Given the description of an element on the screen output the (x, y) to click on. 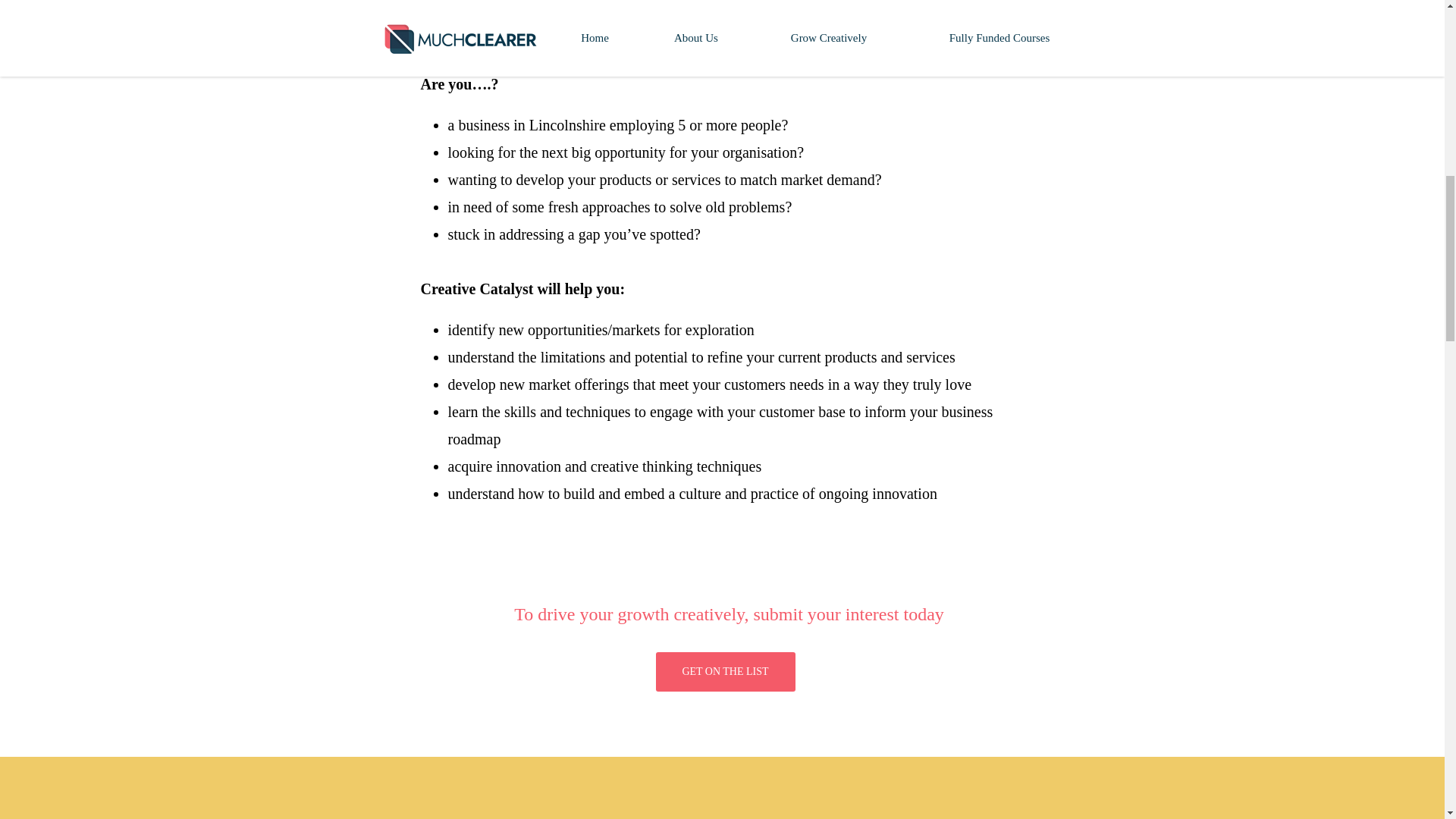
GET ON THE LIST (724, 671)
